Given the description of an element on the screen output the (x, y) to click on. 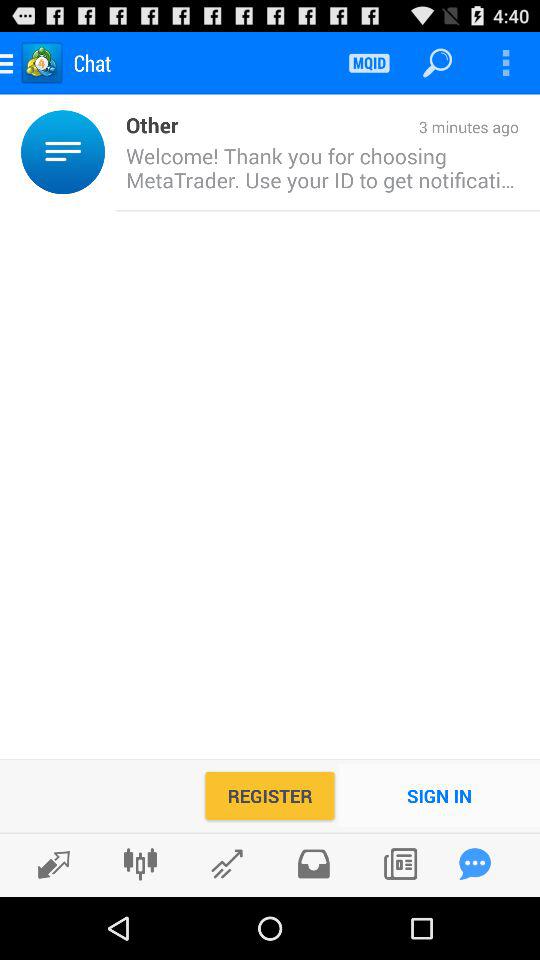
turn on item below the welcome thank you (439, 795)
